Given the description of an element on the screen output the (x, y) to click on. 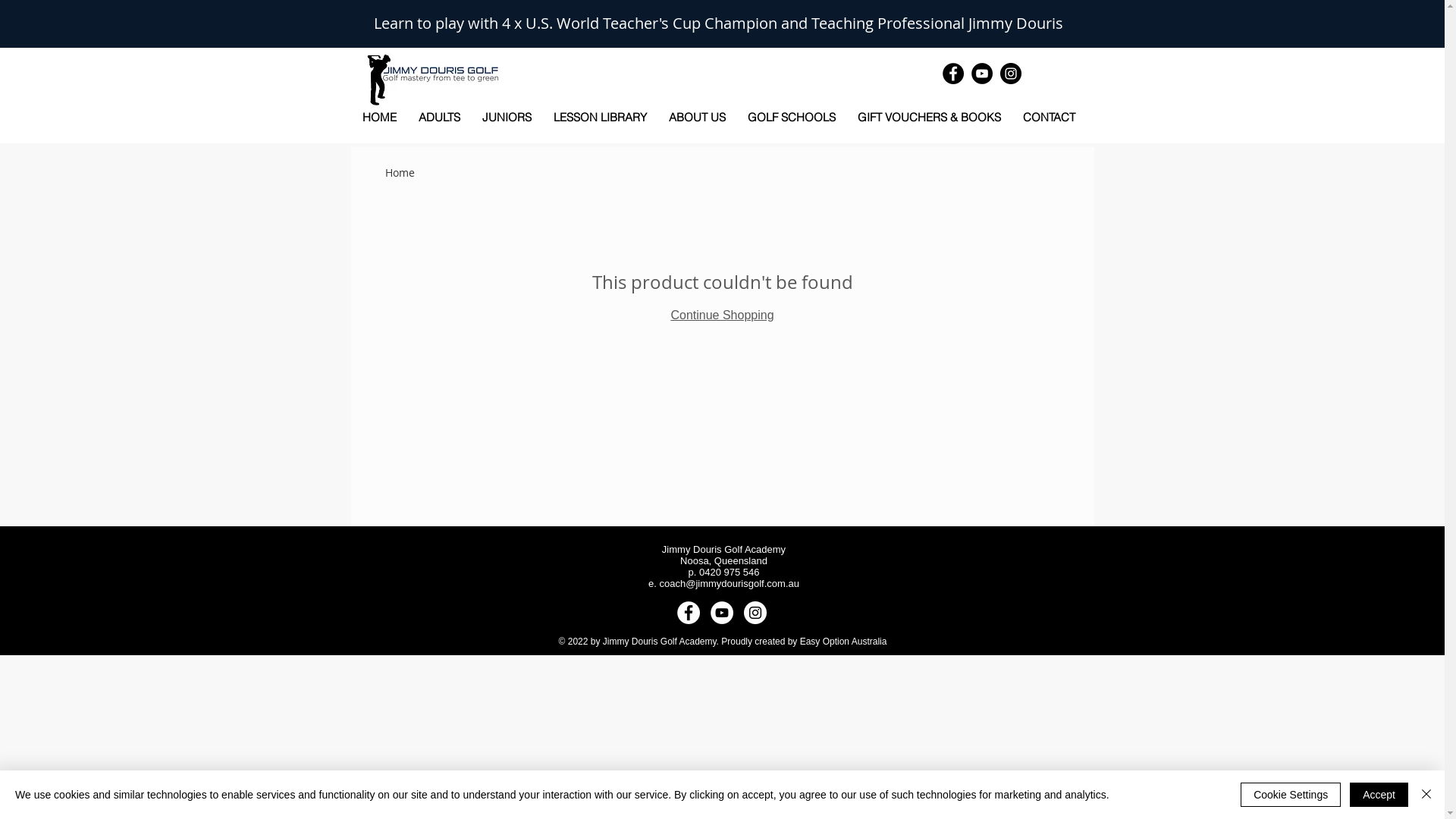
Cookie Settings Element type: text (1290, 794)
ABOUT US Element type: text (697, 116)
CONTACT Element type: text (1048, 116)
coach@jimmydourisgolf.com.au Element type: text (729, 583)
HOME Element type: text (378, 116)
ADULTS Element type: text (439, 116)
Accept Element type: text (1378, 794)
Continue Shopping Element type: text (721, 314)
GOLF SCHOOLS Element type: text (792, 116)
GIFT VOUCHERS & BOOKS Element type: text (928, 116)
Home Element type: text (399, 172)
JUNIORS Element type: text (506, 116)
LESSON LIBRARY Element type: text (600, 116)
